Given the description of an element on the screen output the (x, y) to click on. 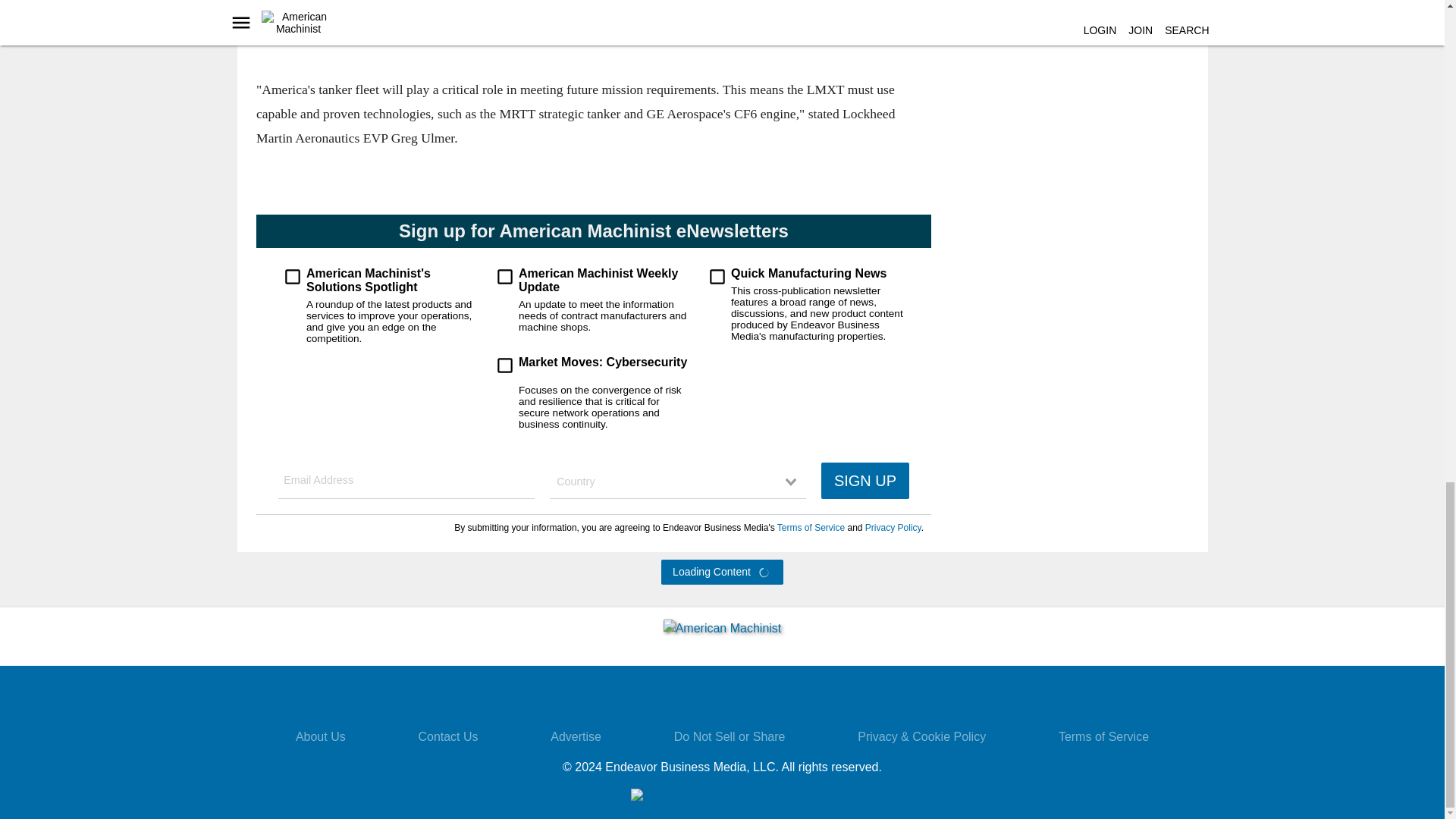
Terms of Service (810, 527)
SIGN UP (864, 480)
Privacy Policy (892, 527)
